Given the description of an element on the screen output the (x, y) to click on. 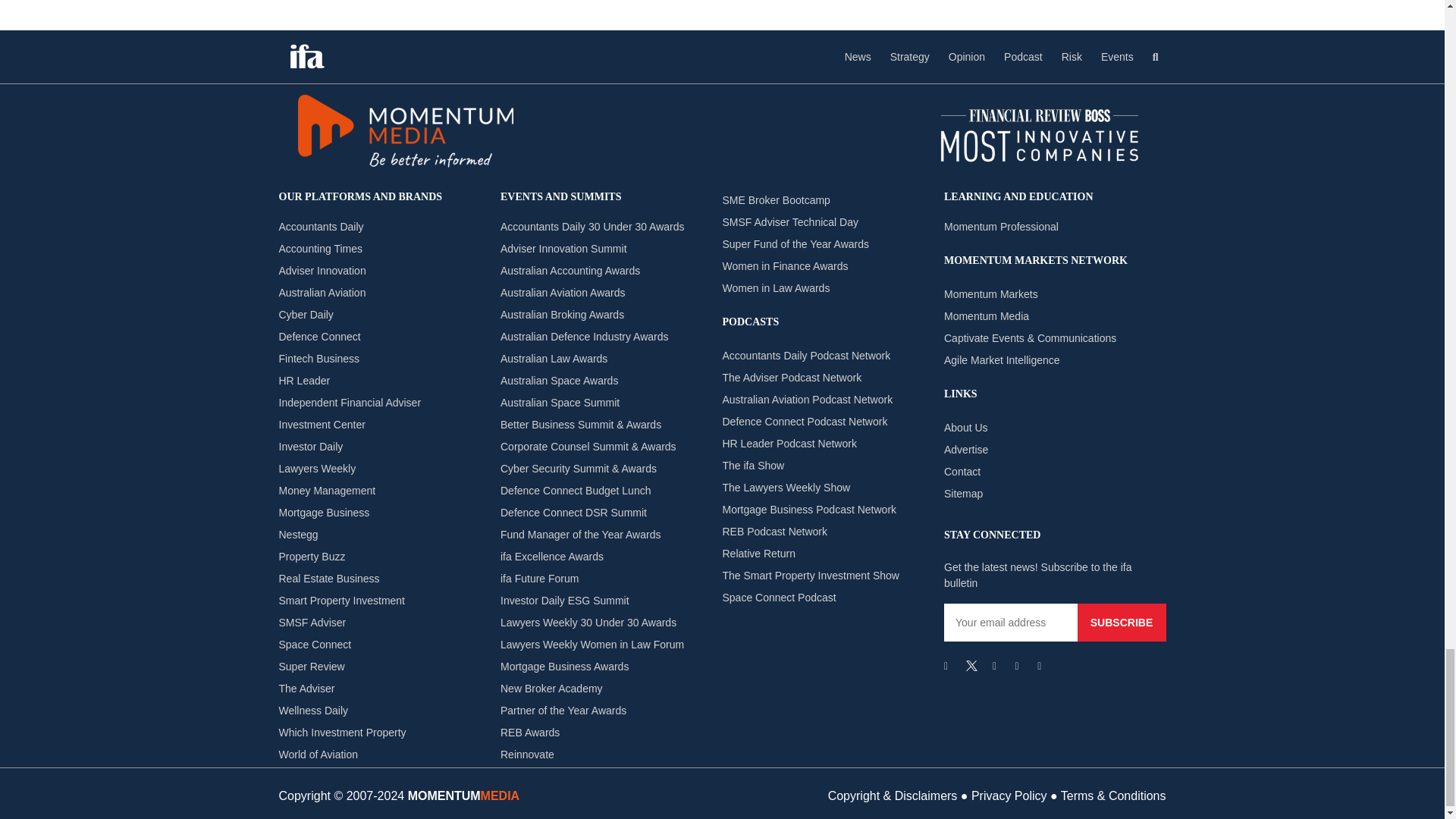
SUBSCRIBE (1121, 622)
